Given the description of an element on the screen output the (x, y) to click on. 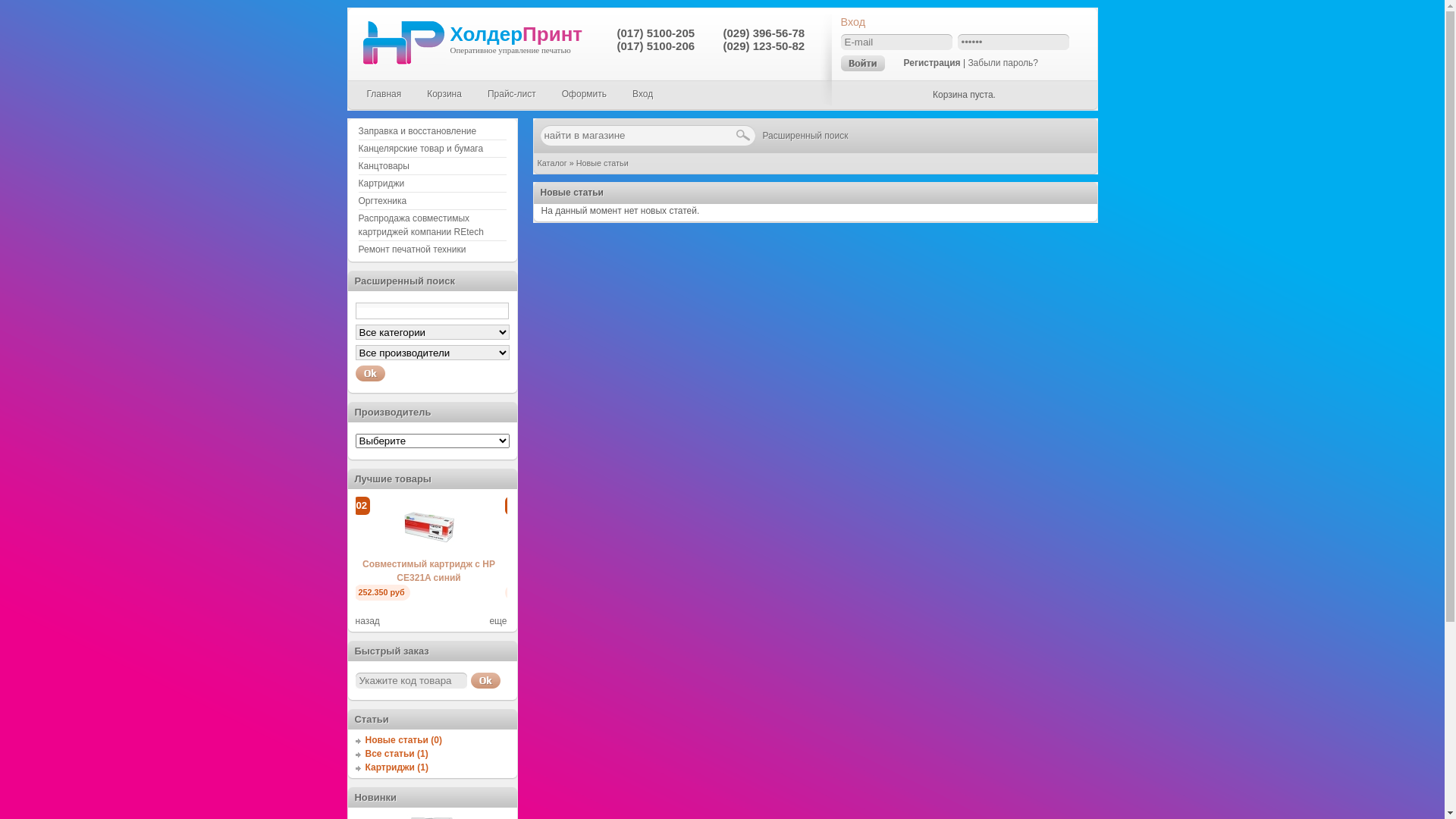
02 Element type: text (430, 554)
E-mail Element type: text (895, 42)
****** Element type: text (1012, 42)
